Given the description of an element on the screen output the (x, y) to click on. 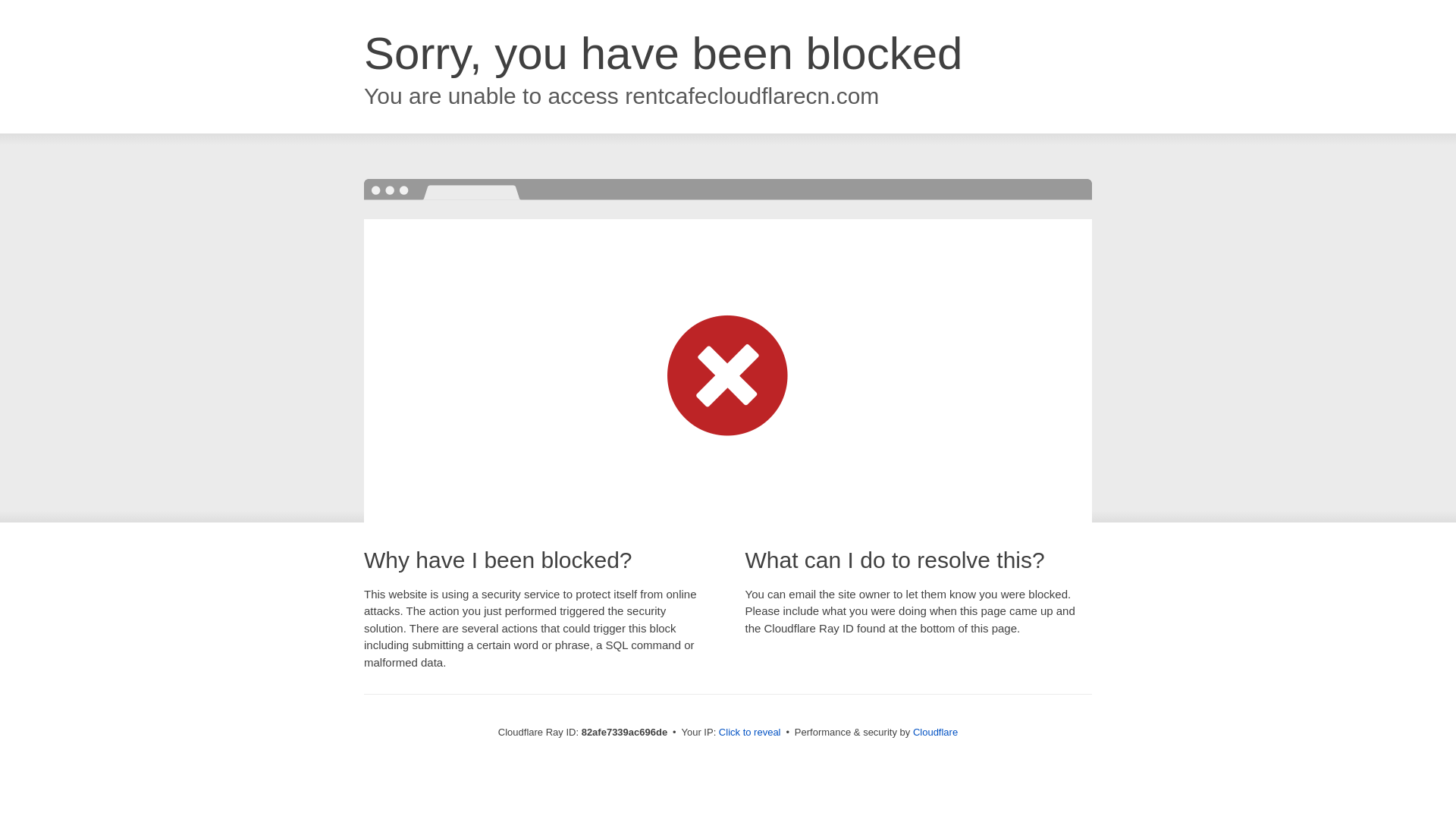
Click to reveal Element type: text (749, 732)
Cloudflare Element type: text (935, 731)
